Given the description of an element on the screen output the (x, y) to click on. 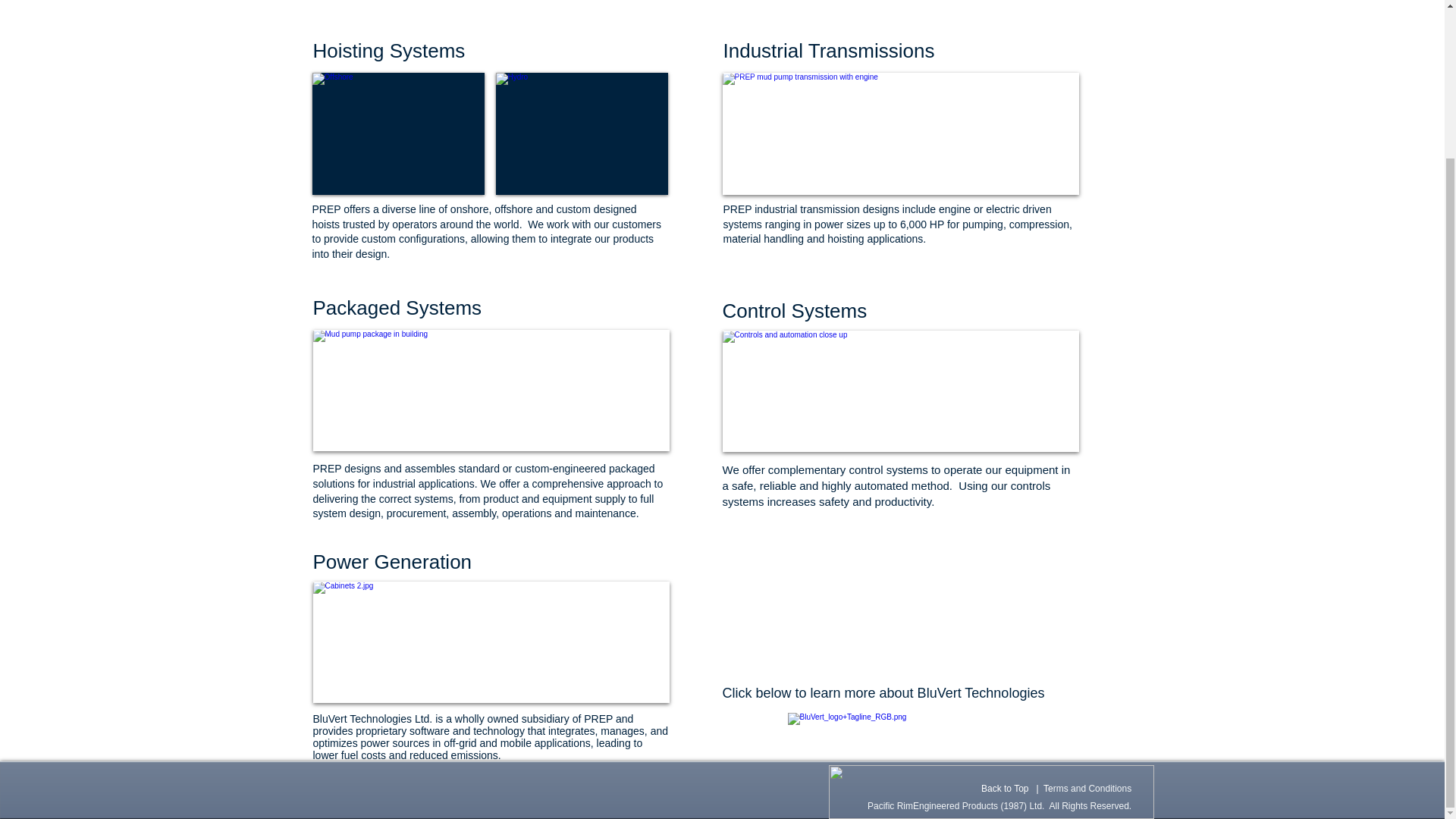
Mud pump transmission and engine (900, 133)
Drilling Rig Controls  (490, 641)
Drilling Rig Controls  (900, 391)
Terms and Conditions (1087, 787)
 Back to Top  (1004, 787)
Mud pump package in building (490, 390)
